Given the description of an element on the screen output the (x, y) to click on. 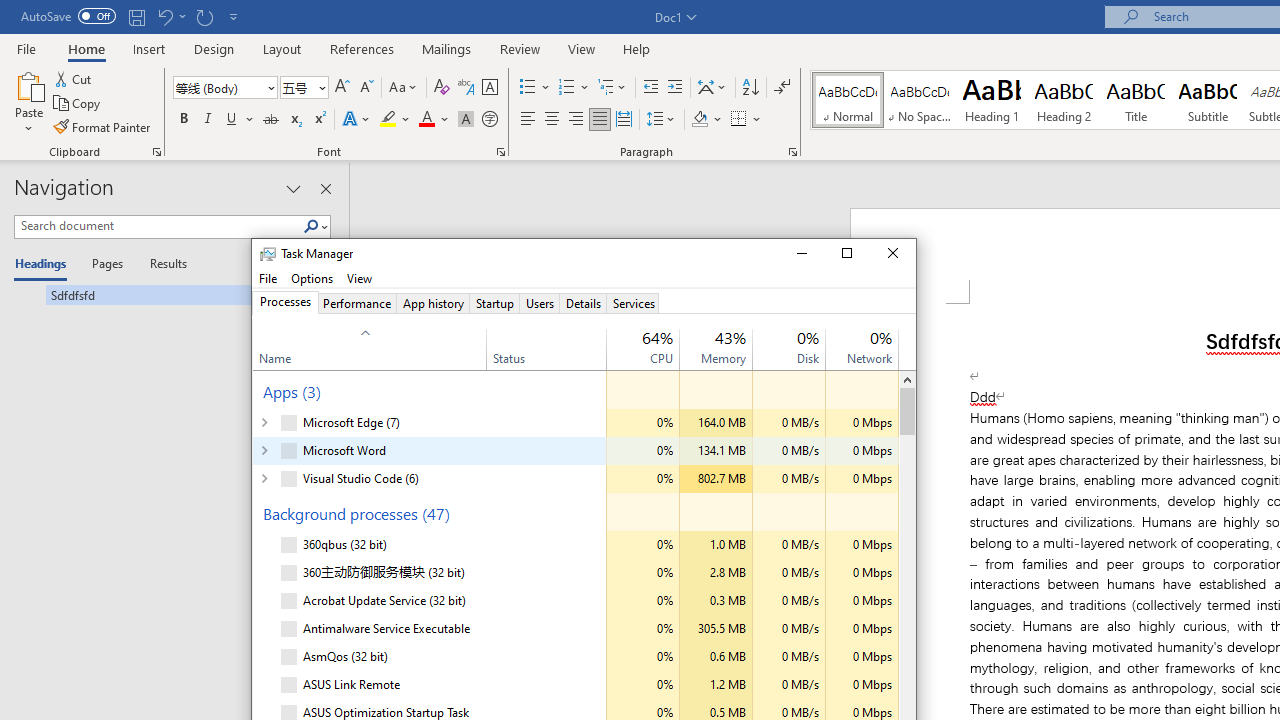
Performance (356, 303)
